Given the description of an element on the screen output the (x, y) to click on. 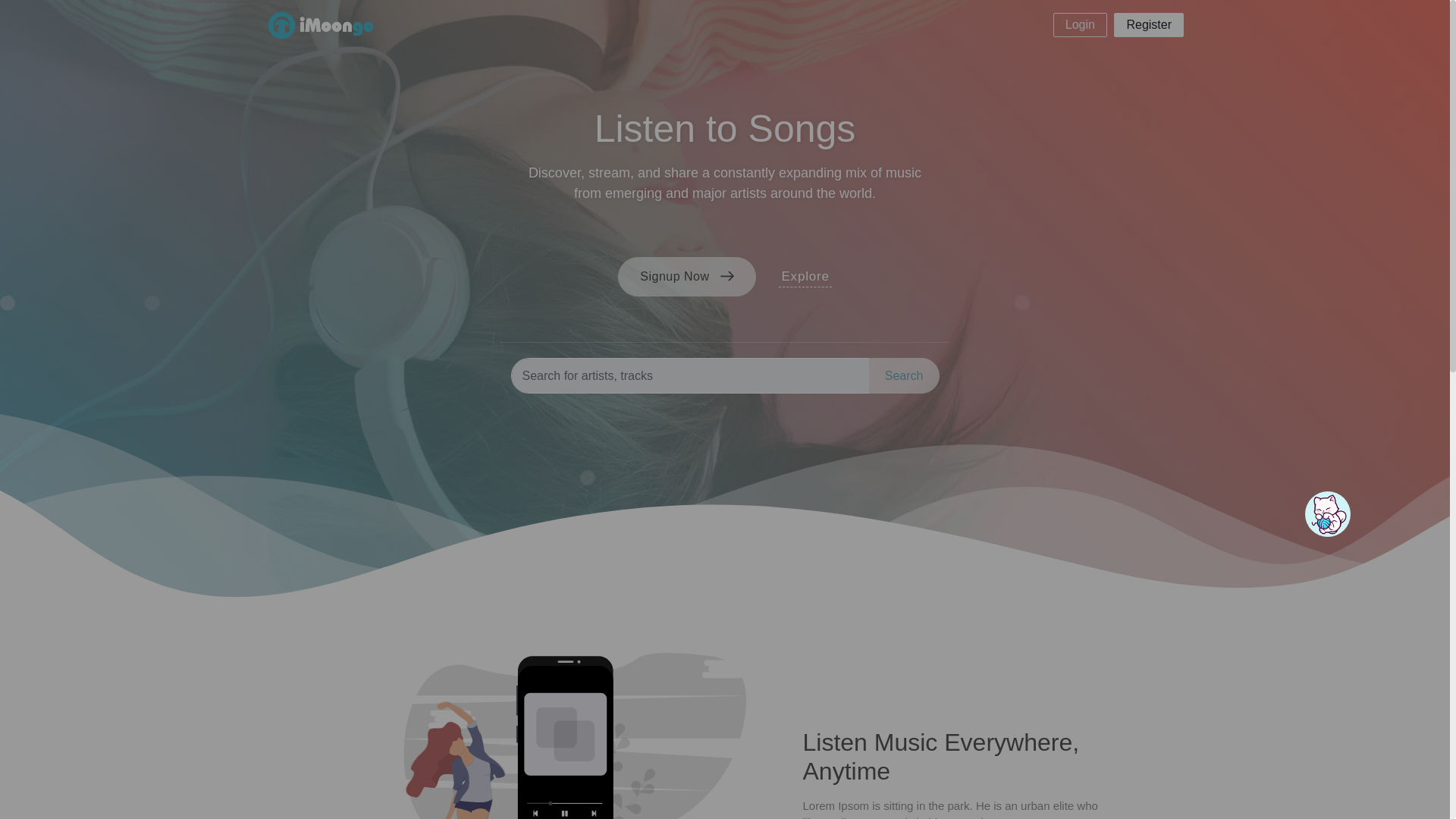
Explore (804, 277)
Register (1148, 24)
Search (904, 375)
Signup Now (686, 276)
Login (1079, 24)
